Given the description of an element on the screen output the (x, y) to click on. 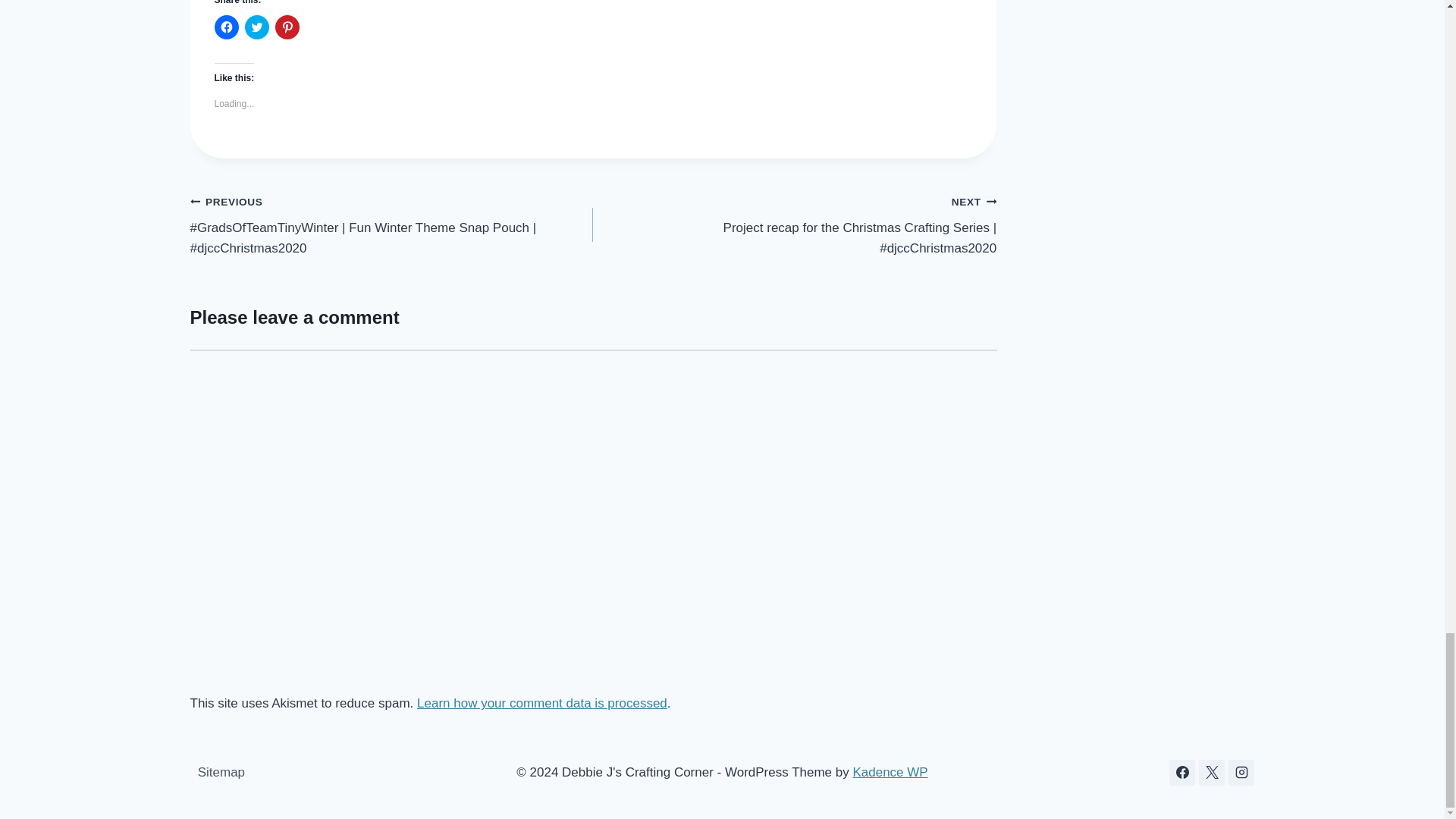
Click to share on Twitter (255, 27)
Click to share on Facebook (226, 27)
Click to share on Pinterest (286, 27)
